Given the description of an element on the screen output the (x, y) to click on. 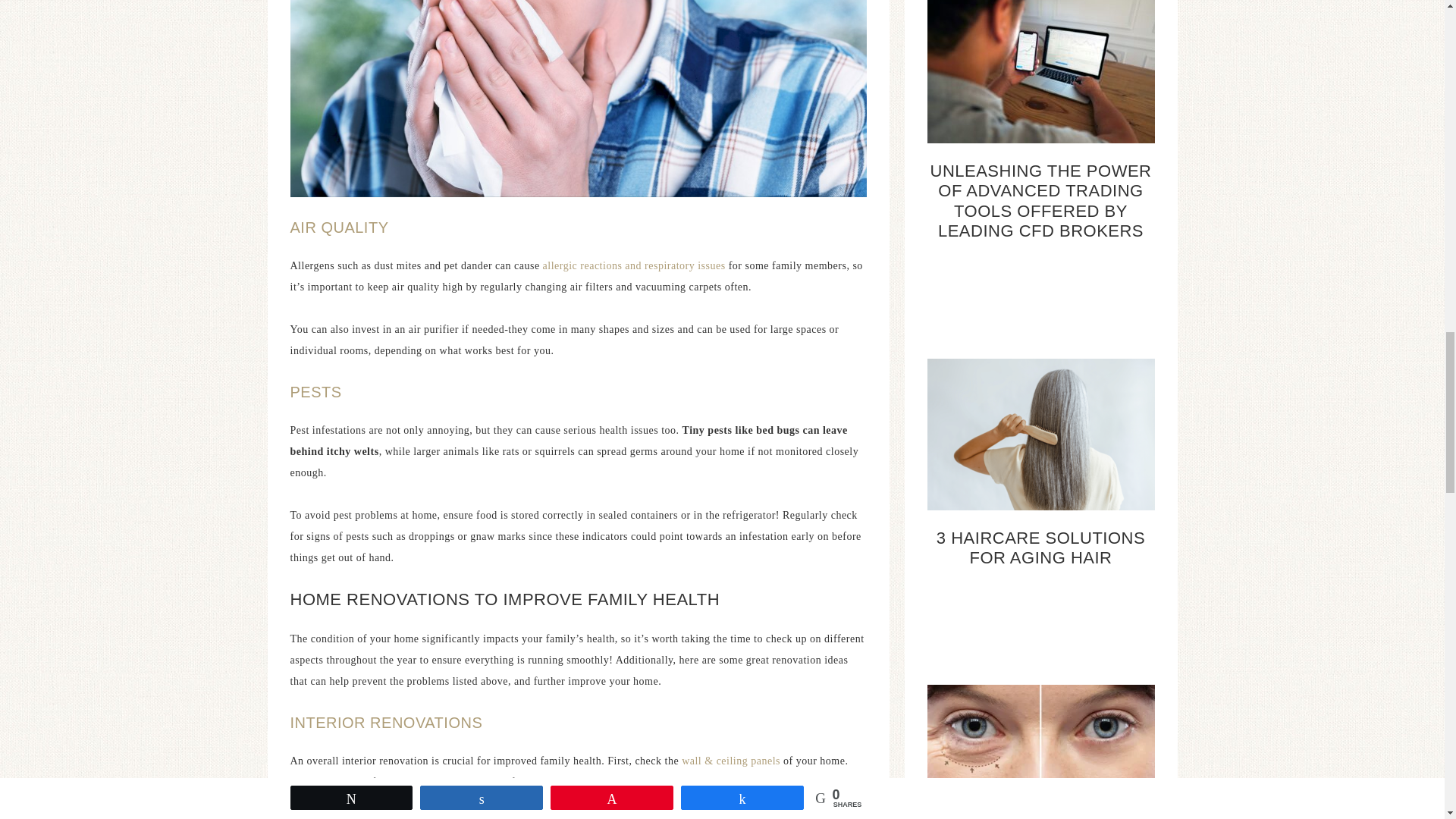
3 HAIRCARE SOLUTIONS FOR AGING HAIR (1040, 547)
allergic reactions and respiratory issues (634, 265)
